Given the description of an element on the screen output the (x, y) to click on. 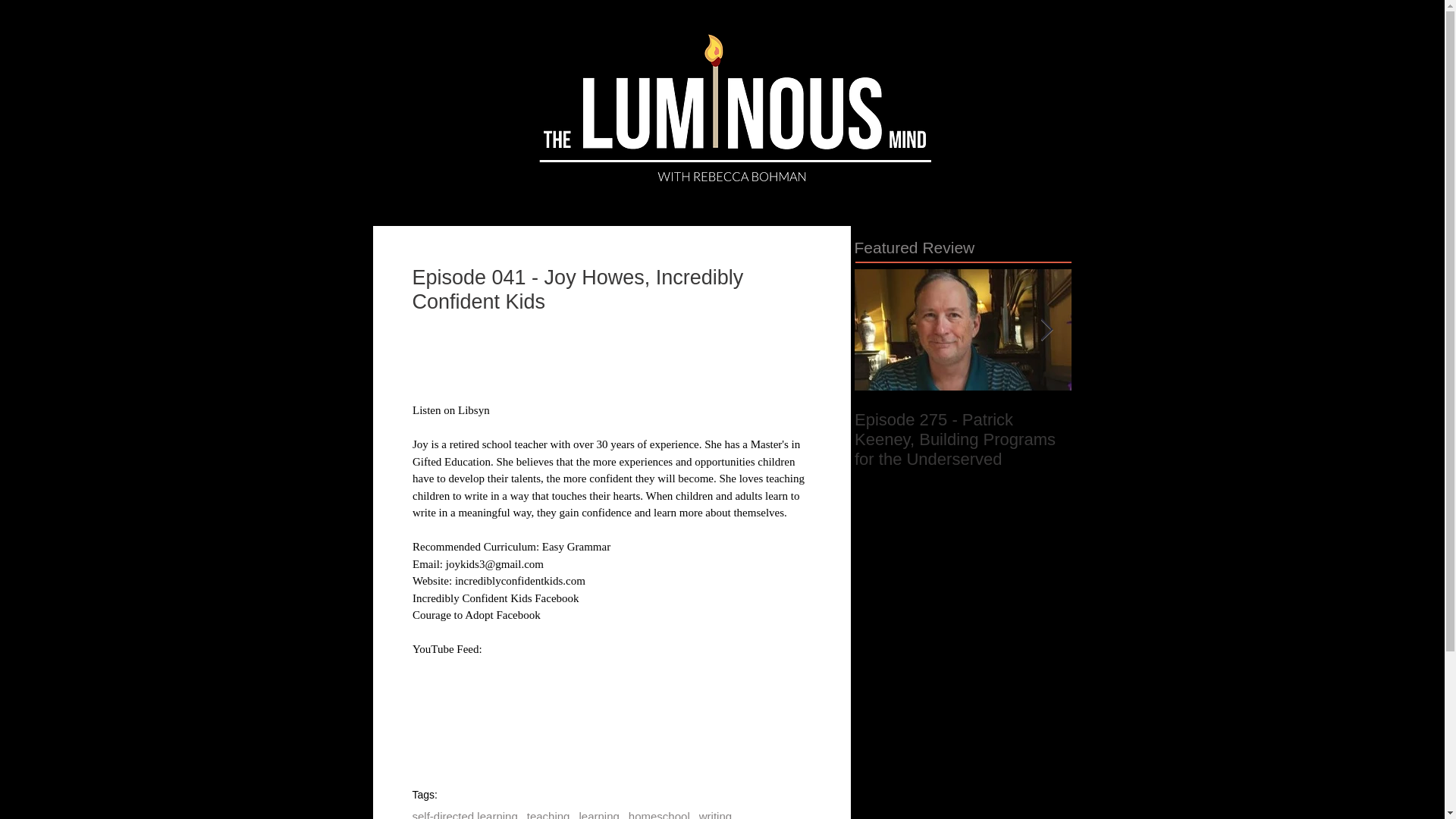
learning (598, 814)
teaching (548, 814)
Listen on Libsyn (450, 410)
incrediblyconfidentkids.com (519, 580)
SUBSCRIBE (622, 179)
homeschool (659, 814)
Courage to Adopt Facebook (476, 614)
Incredibly Confident Kids Facebook (495, 597)
self-directed learning (465, 814)
Easy Grammar (575, 546)
writing (715, 814)
